Given the description of an element on the screen output the (x, y) to click on. 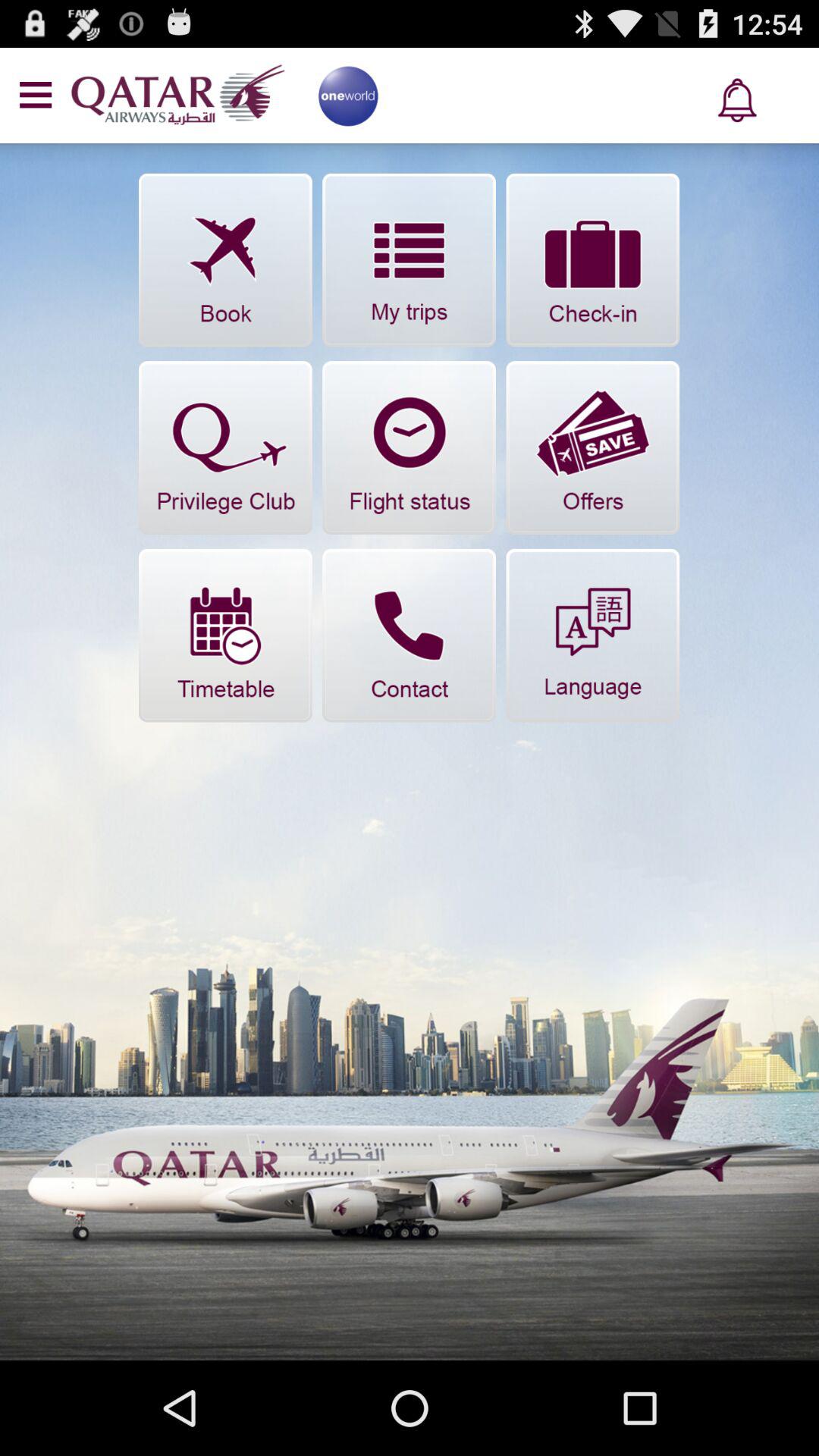
change language (592, 635)
